Given the description of an element on the screen output the (x, y) to click on. 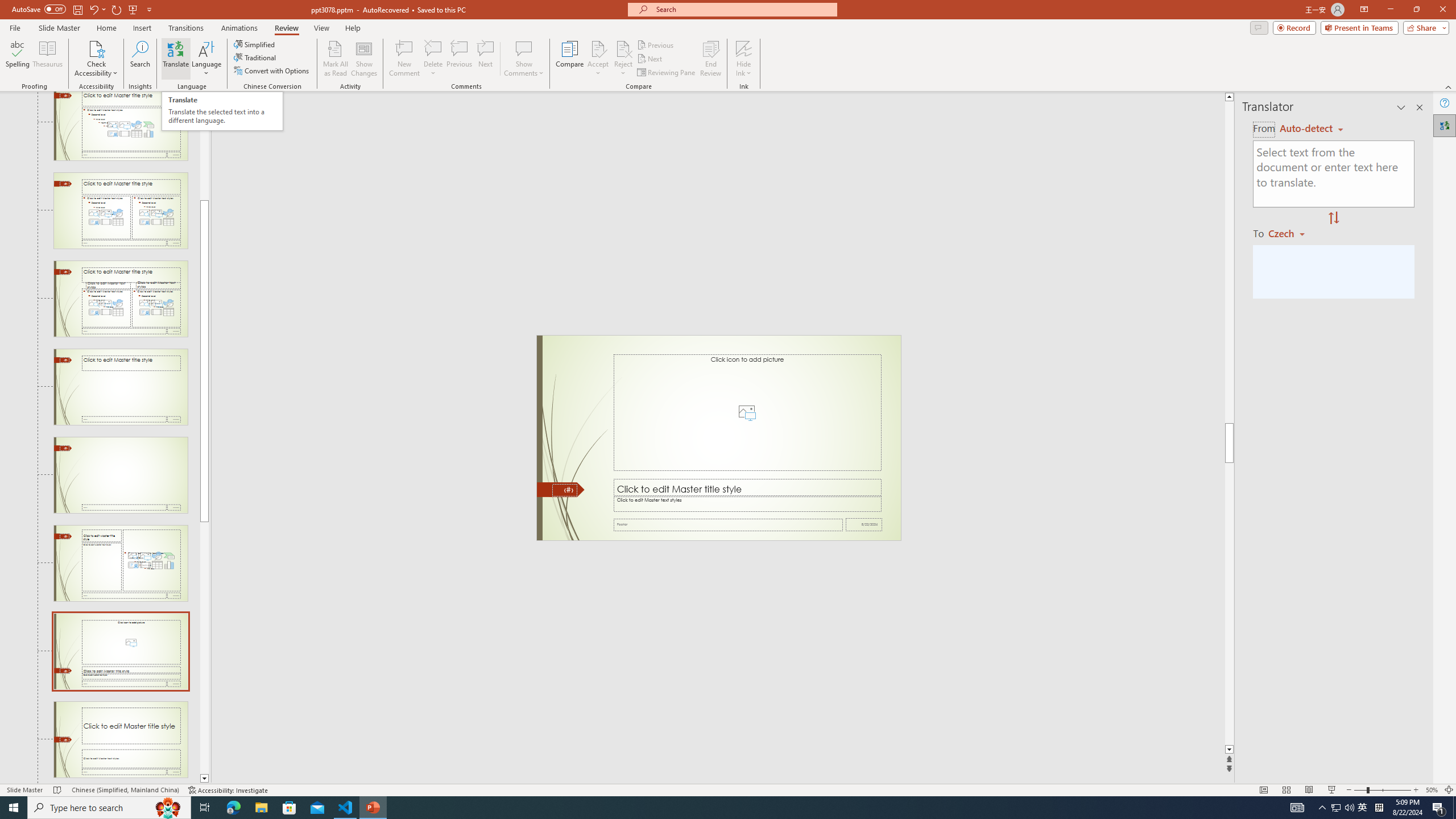
Reject (622, 58)
Page up (204, 150)
English (1310, 128)
Show Comments (524, 58)
Compare (569, 58)
Slide Title Only Layout: used by no slides (120, 386)
Hide Ink (743, 58)
